Given the description of an element on the screen output the (x, y) to click on. 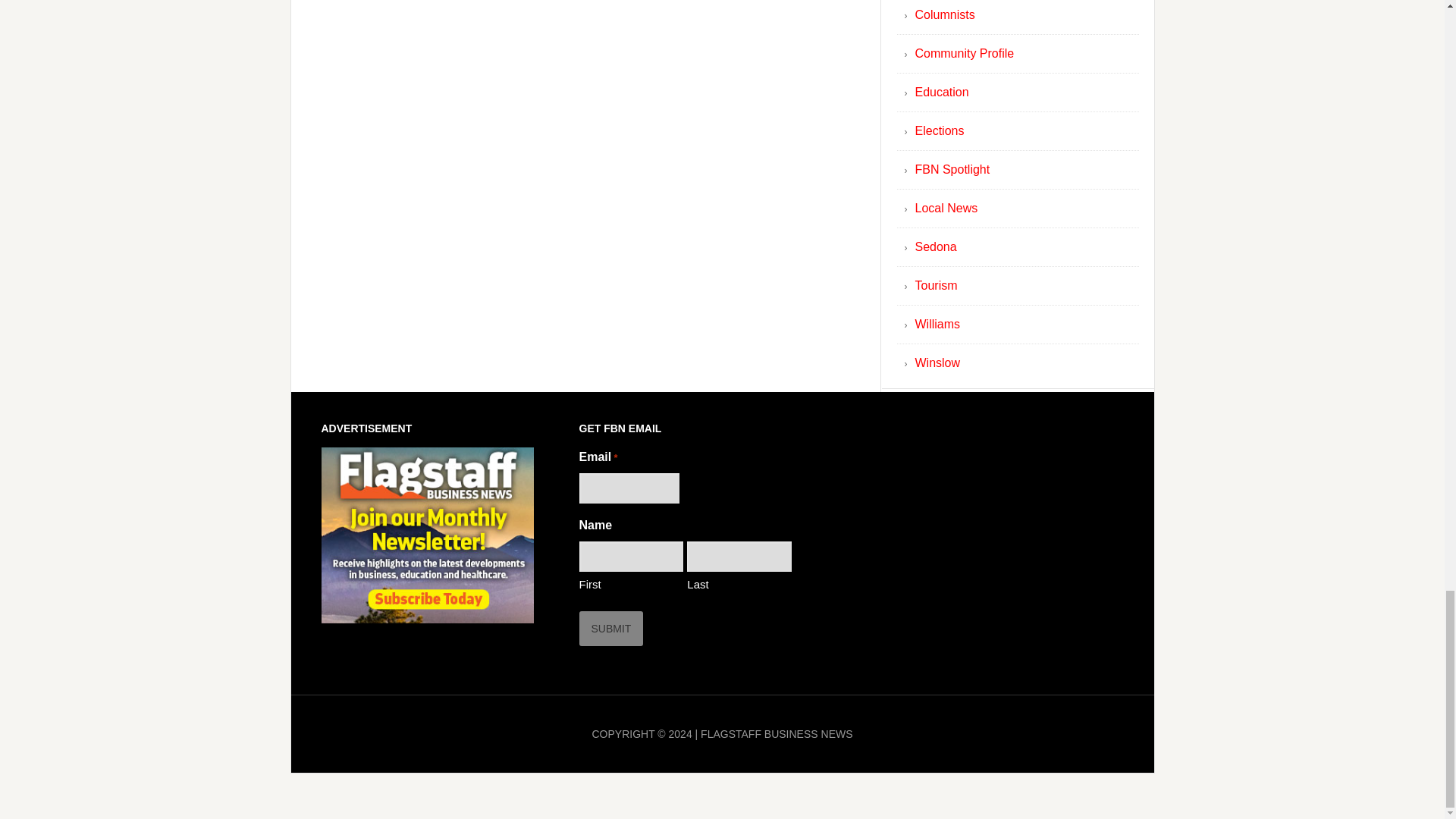
Submit (611, 628)
